Given the description of an element on the screen output the (x, y) to click on. 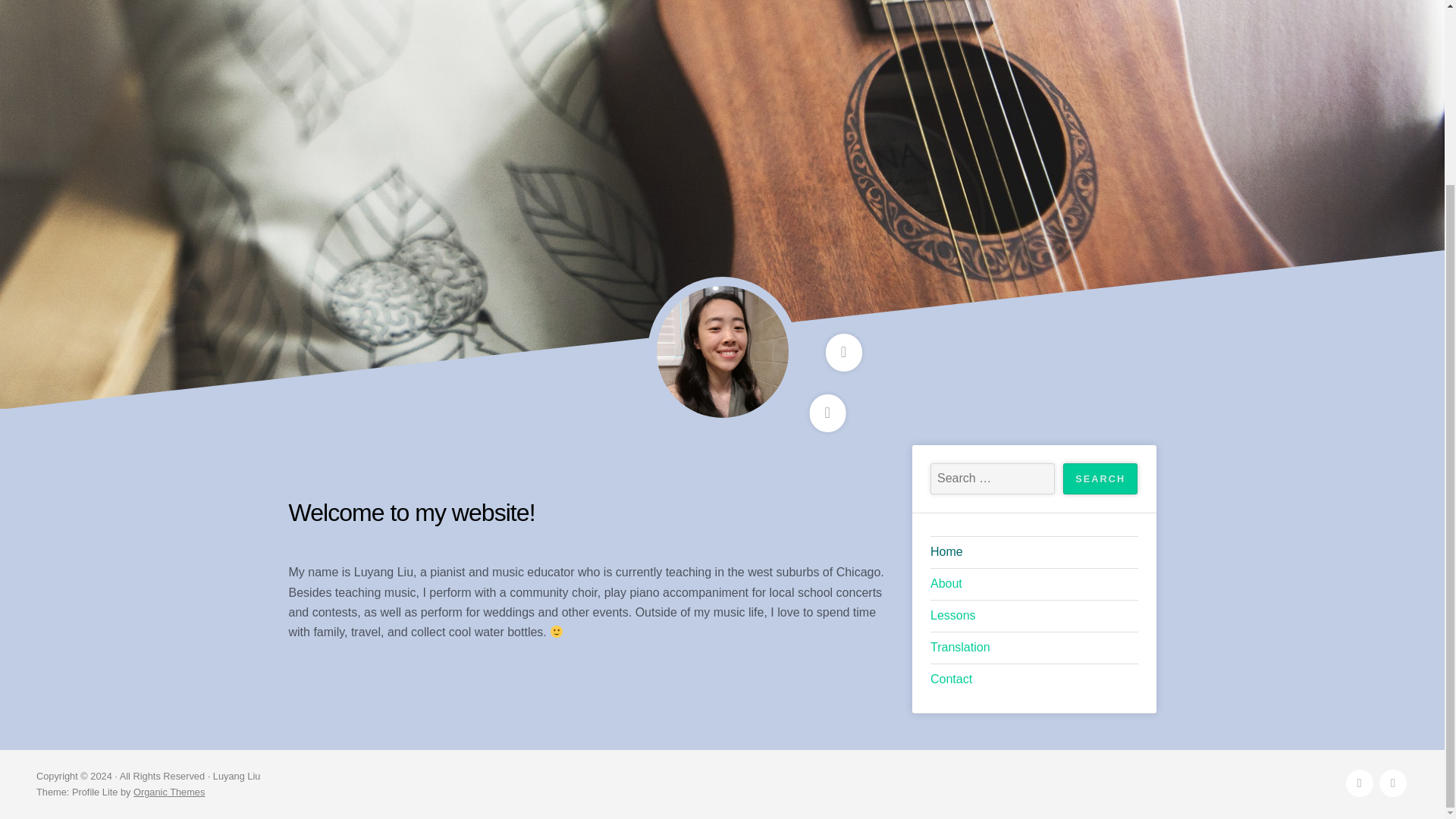
Contact (1034, 680)
Home (1034, 552)
About (1034, 584)
Organic Themes (169, 791)
Lessons (1034, 616)
Translation (1034, 648)
Search (1099, 478)
Search (1099, 478)
